Given the description of an element on the screen output the (x, y) to click on. 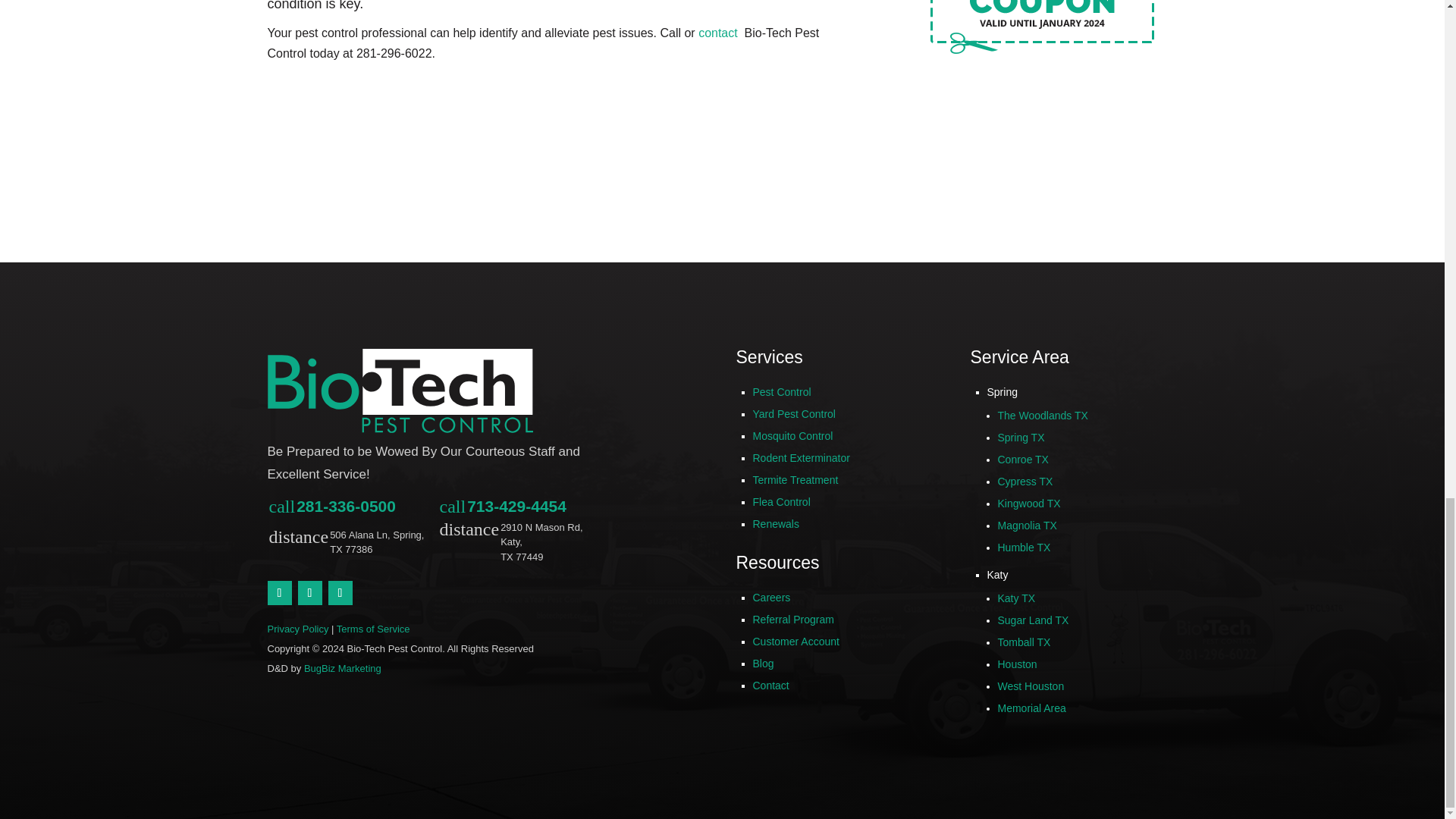
contact  (719, 32)
Follow on Facebook (309, 592)
Follow on X (278, 592)
Follow on Instagram (339, 592)
